Given the description of an element on the screen output the (x, y) to click on. 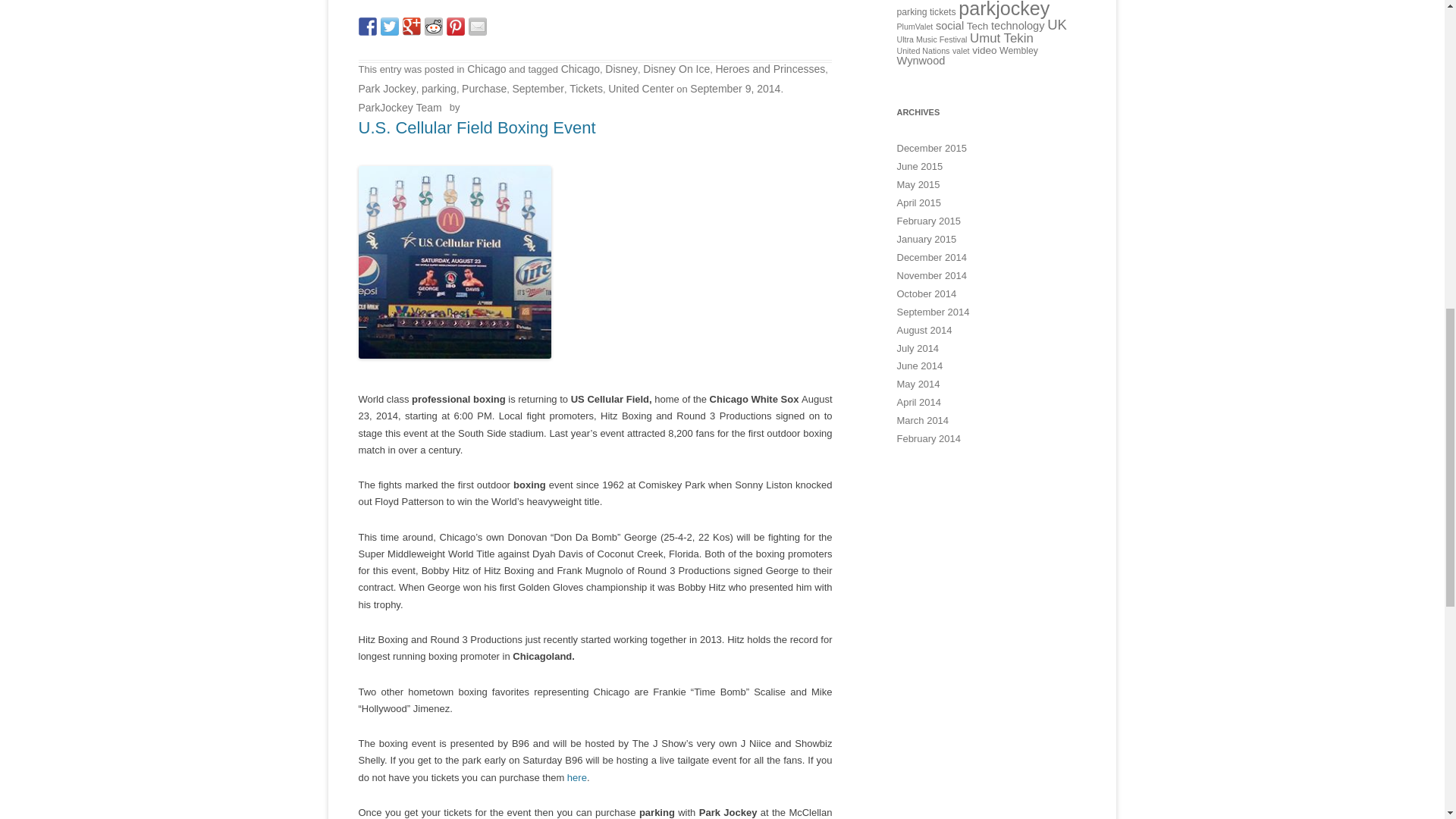
Park Jockey (386, 89)
Disney On Ice (676, 69)
Share by email (477, 26)
Share on Reddit (433, 26)
Share on Facebook (366, 26)
Pin it with Pinterest (454, 26)
Share on Twitter (389, 26)
Disney (621, 69)
Chicago (579, 69)
Heroes and Princesses (769, 69)
